Given the description of an element on the screen output the (x, y) to click on. 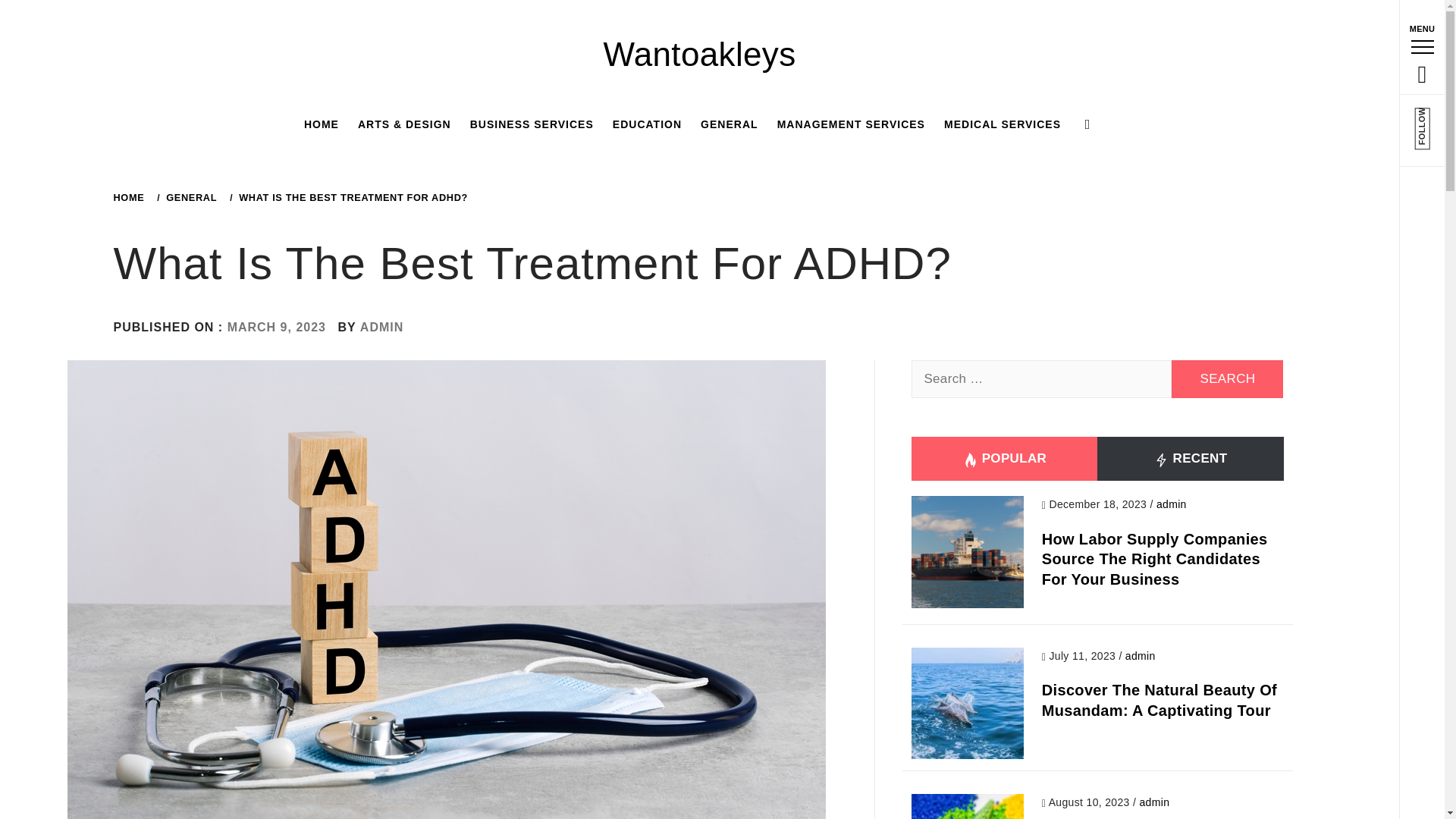
admin (1140, 655)
HOME (321, 124)
Search (1227, 379)
MEDICAL SERVICES (1002, 124)
Wantoakleys (700, 54)
HOME (131, 197)
BUSINESS SERVICES (532, 124)
EDUCATION (646, 124)
Search (646, 37)
admin (1153, 802)
admin (1171, 503)
MARCH 9, 2023 (276, 327)
RECENT (1189, 458)
WHAT IS THE BEST TREATMENT FOR ADHD? (351, 197)
